Given the description of an element on the screen output the (x, y) to click on. 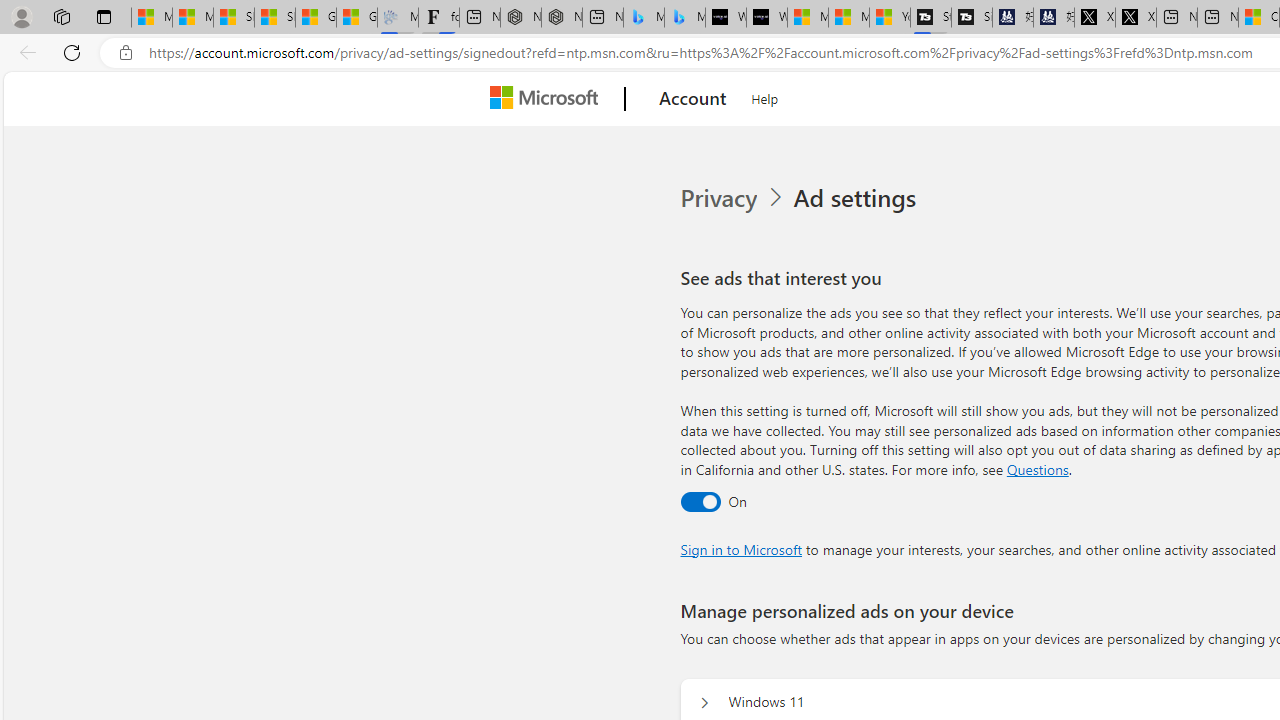
Shanghai, China weather forecast | Microsoft Weather (274, 17)
Nordace - #1 Japanese Best-Seller - Siena Smart Backpack (561, 17)
